Given the description of an element on the screen output the (x, y) to click on. 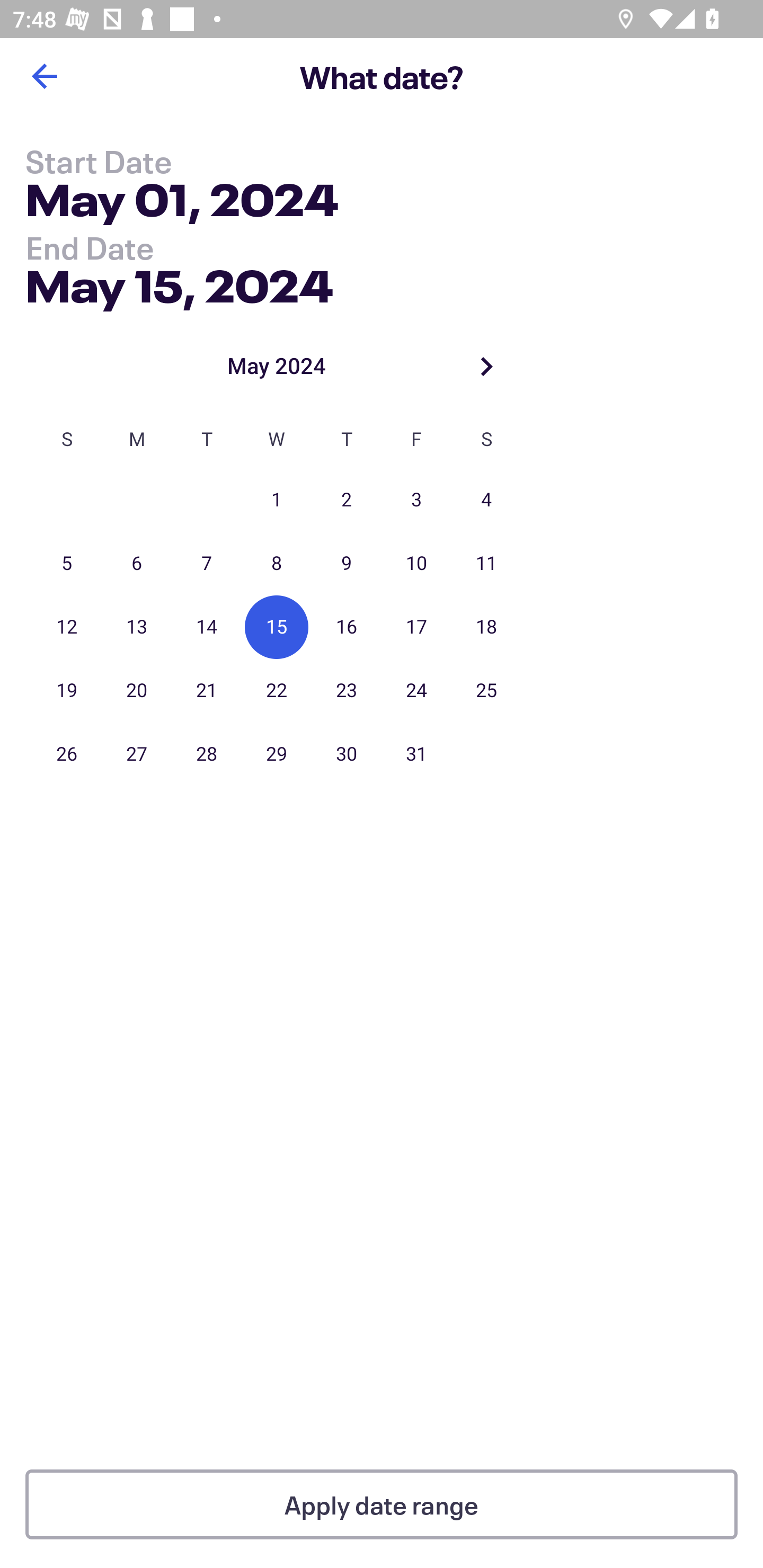
Back button (44, 75)
May 01, 2024 (181, 203)
May 15, 2024 (179, 282)
Next month (486, 365)
1 01 May 2024 (276, 499)
2 02 May 2024 (346, 499)
3 03 May 2024 (416, 499)
4 04 May 2024 (486, 499)
5 05 May 2024 (66, 563)
6 06 May 2024 (136, 563)
7 07 May 2024 (206, 563)
8 08 May 2024 (276, 563)
9 09 May 2024 (346, 563)
10 10 May 2024 (416, 563)
11 11 May 2024 (486, 563)
12 12 May 2024 (66, 626)
13 13 May 2024 (136, 626)
14 14 May 2024 (206, 626)
15 15 May 2024 (276, 626)
16 16 May 2024 (346, 626)
17 17 May 2024 (416, 626)
18 18 May 2024 (486, 626)
19 19 May 2024 (66, 690)
20 20 May 2024 (136, 690)
21 21 May 2024 (206, 690)
22 22 May 2024 (276, 690)
23 23 May 2024 (346, 690)
24 24 May 2024 (416, 690)
25 25 May 2024 (486, 690)
26 26 May 2024 (66, 753)
27 27 May 2024 (136, 753)
28 28 May 2024 (206, 753)
29 29 May 2024 (276, 753)
30 30 May 2024 (346, 753)
31 31 May 2024 (416, 753)
Apply date range (381, 1504)
